Given the description of an element on the screen output the (x, y) to click on. 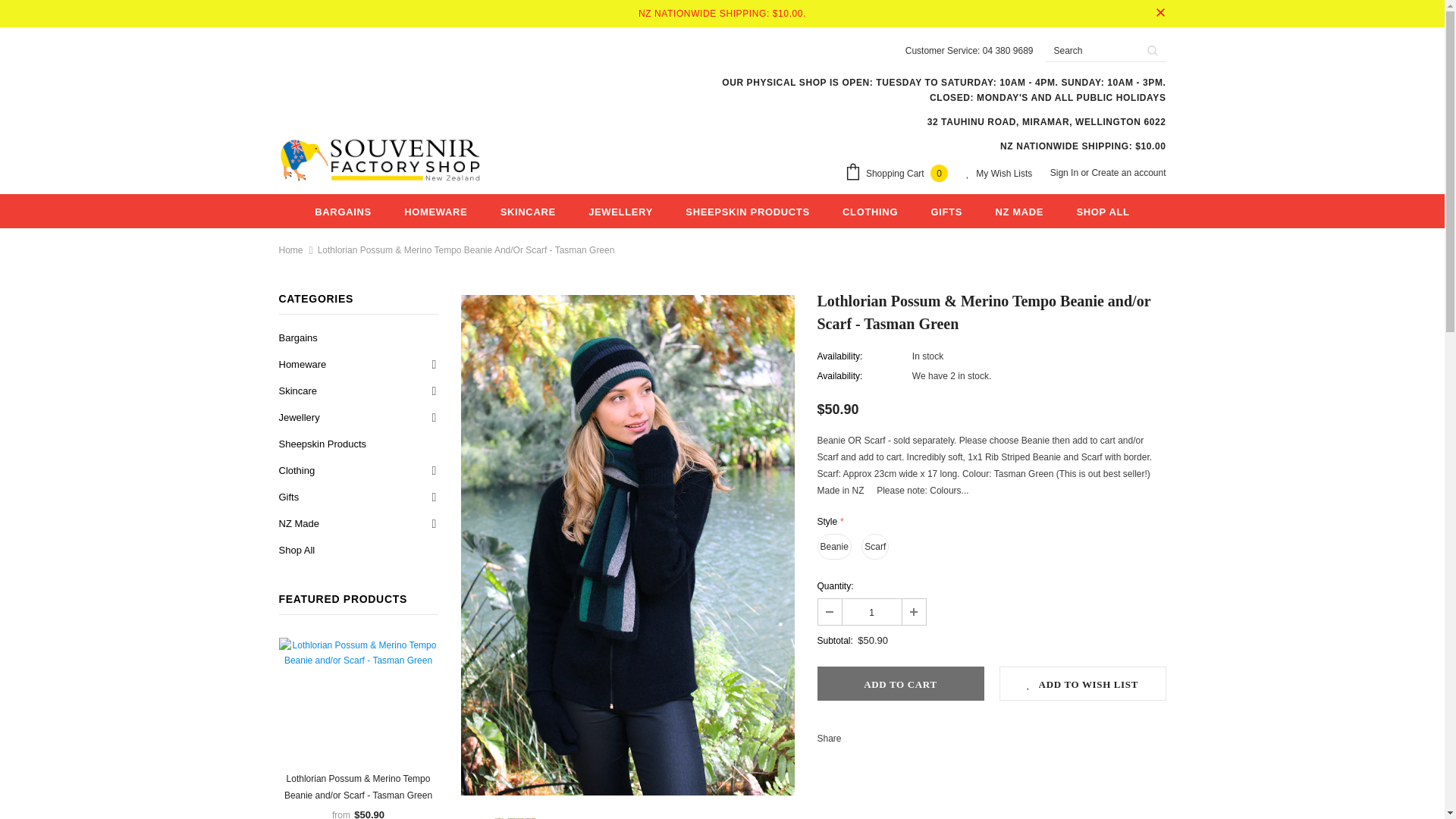
close (1160, 13)
1 (871, 611)
Add to Cart (900, 683)
